Given the description of an element on the screen output the (x, y) to click on. 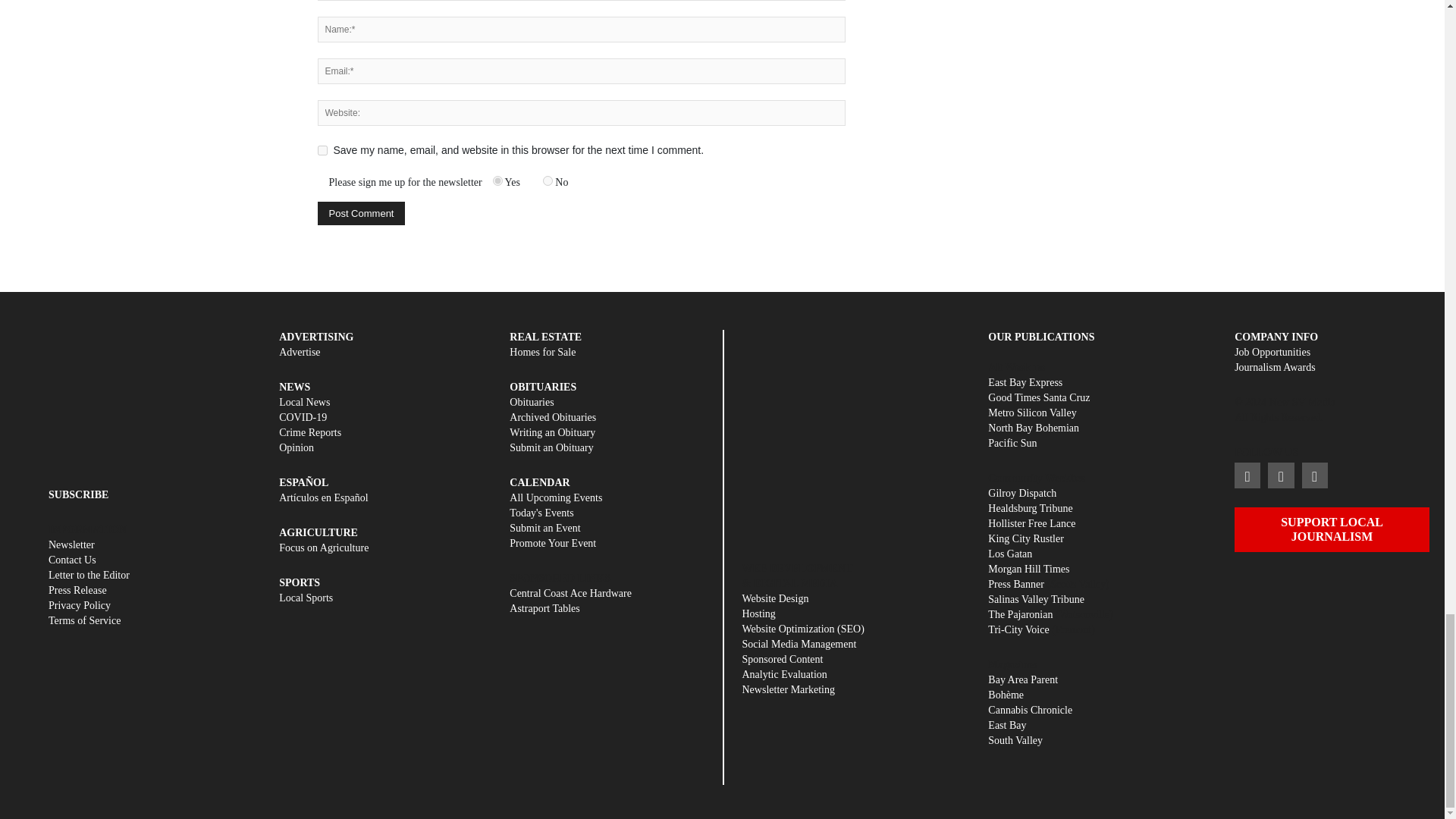
yes (321, 150)
Post Comment (360, 213)
Yes (497, 180)
No (548, 180)
